Given the description of an element on the screen output the (x, y) to click on. 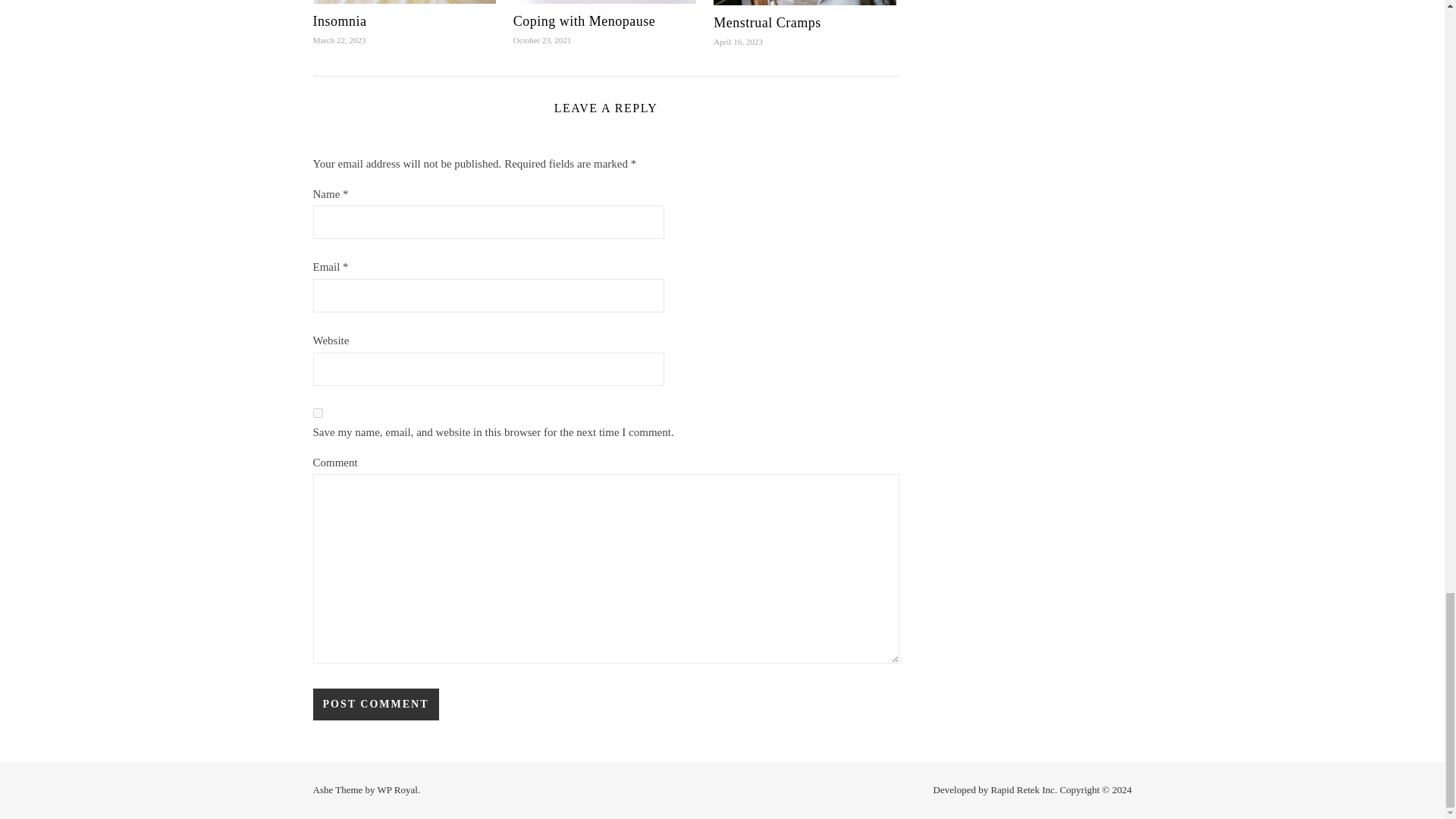
yes (317, 412)
Post Comment (375, 704)
